Given the description of an element on the screen output the (x, y) to click on. 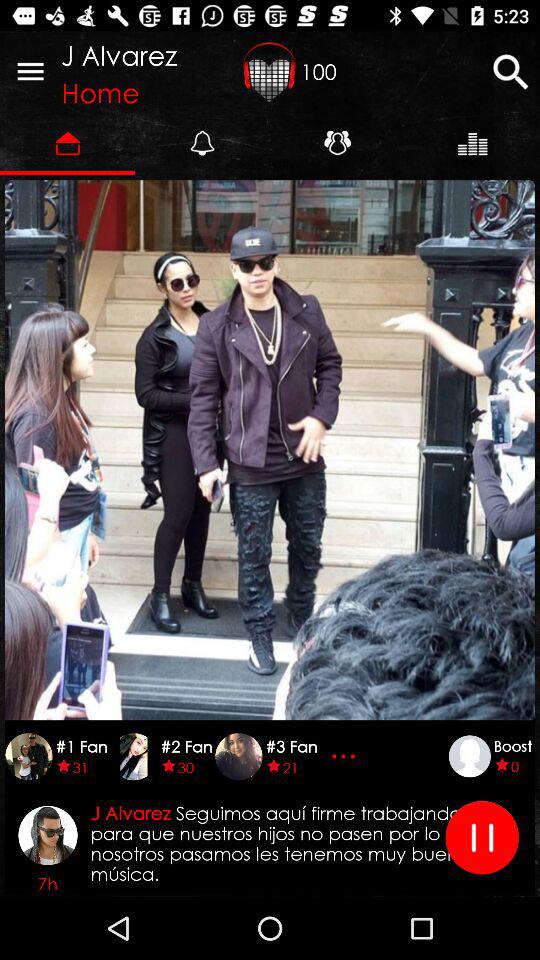
pause button (482, 837)
